Given the description of an element on the screen output the (x, y) to click on. 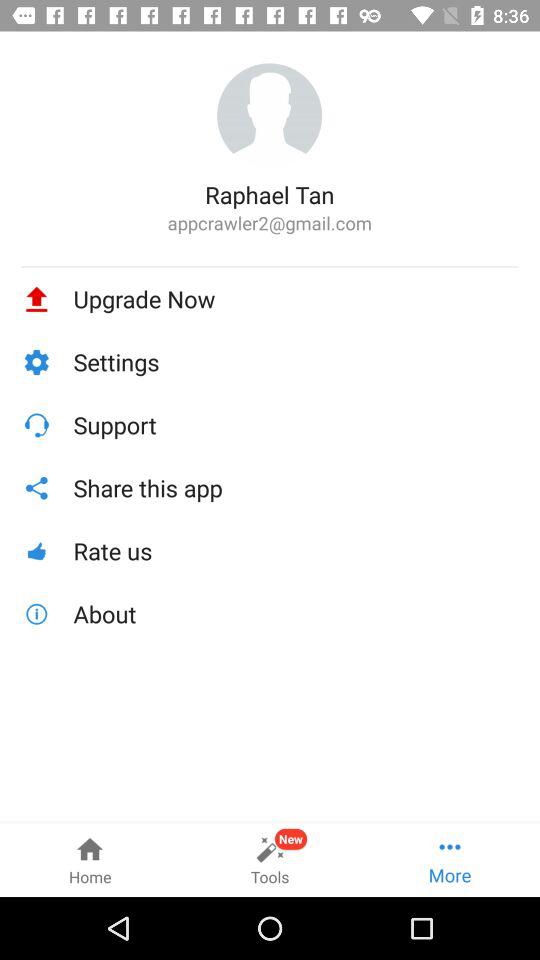
tap icon above about item (296, 550)
